Given the description of an element on the screen output the (x, y) to click on. 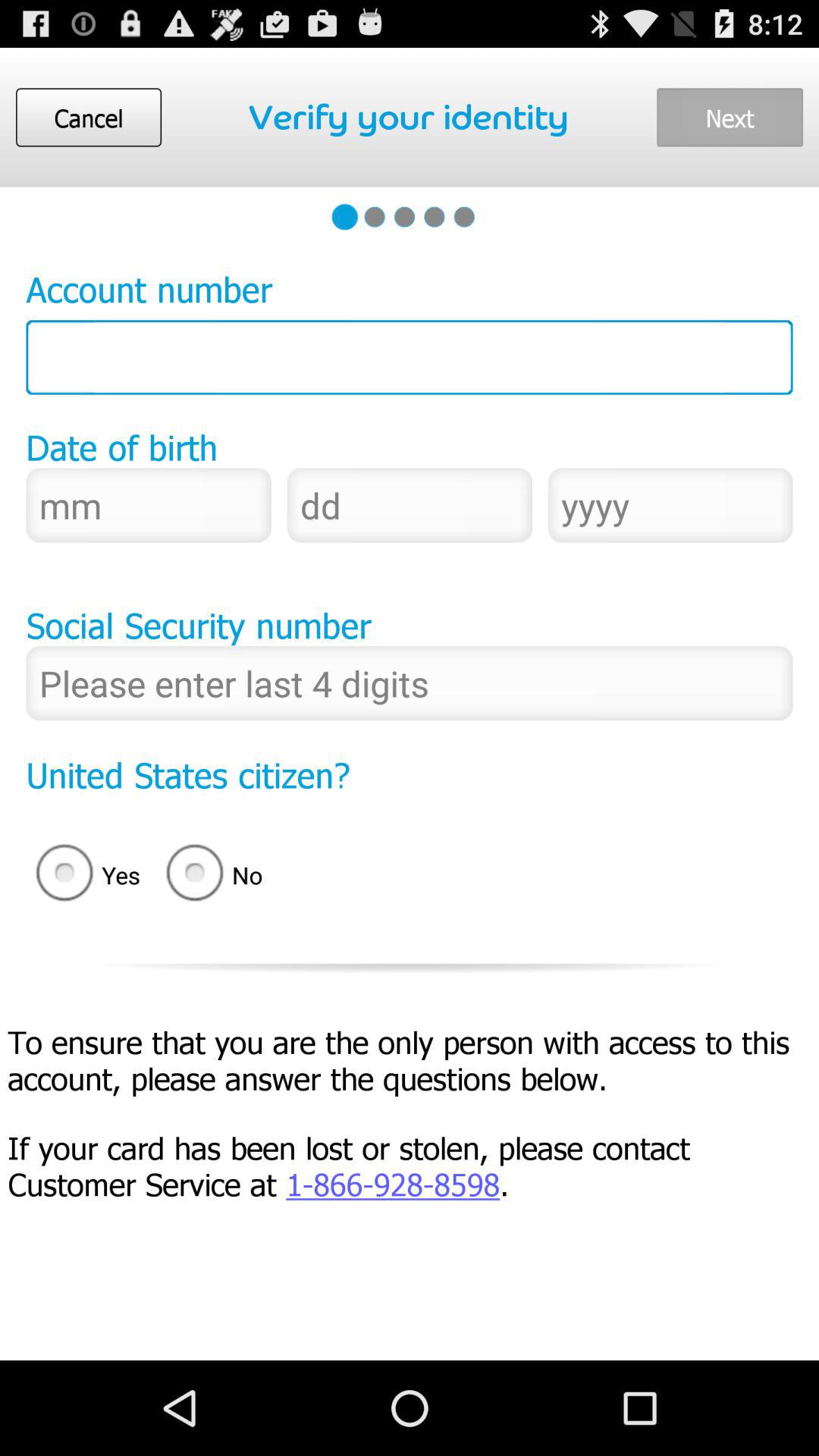
flip until cancel item (88, 117)
